Given the description of an element on the screen output the (x, y) to click on. 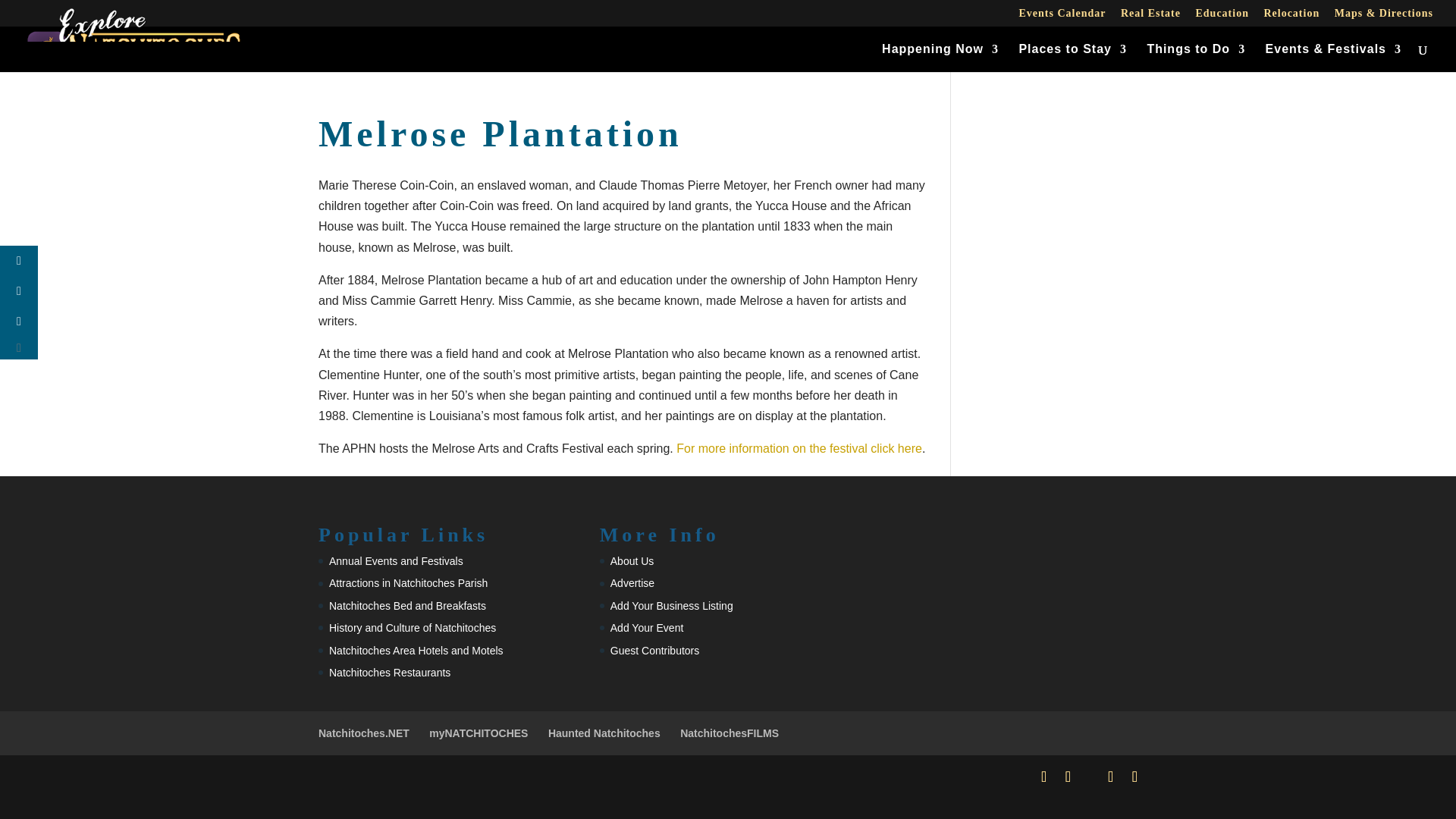
Guest Contributors (655, 650)
Places to Stay (1071, 58)
NatchitochesFILMS (728, 733)
Things to Do (1195, 58)
Education in Natchitoches Parish (1221, 16)
About Us (631, 561)
Natchitoches.NET (363, 733)
Natchitoches Restaurants (389, 672)
Places to Stay in Natchitoches (1071, 58)
Things to Do in Natchitoches Parish (1195, 58)
Advertise (631, 582)
Haunted Natchitoches (604, 733)
Education (1221, 16)
Attractions in Natchitoches Parish (408, 582)
History and Culture of Natchitoches (412, 627)
